Given the description of an element on the screen output the (x, y) to click on. 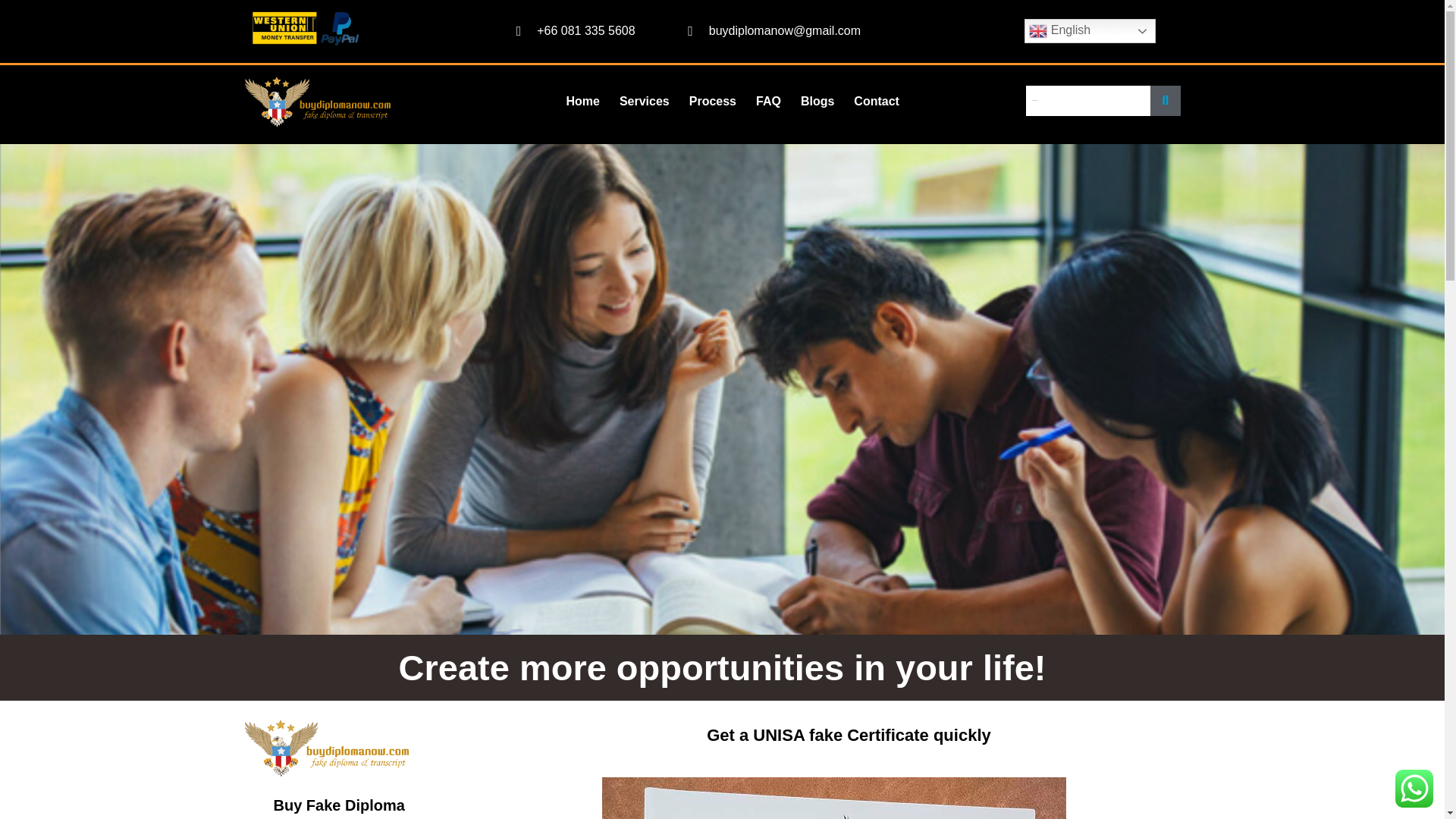
English (1090, 30)
Blogs (817, 101)
Services (644, 101)
Process (712, 101)
FAQ (767, 101)
Contact (876, 101)
Home (582, 101)
